Given the description of an element on the screen output the (x, y) to click on. 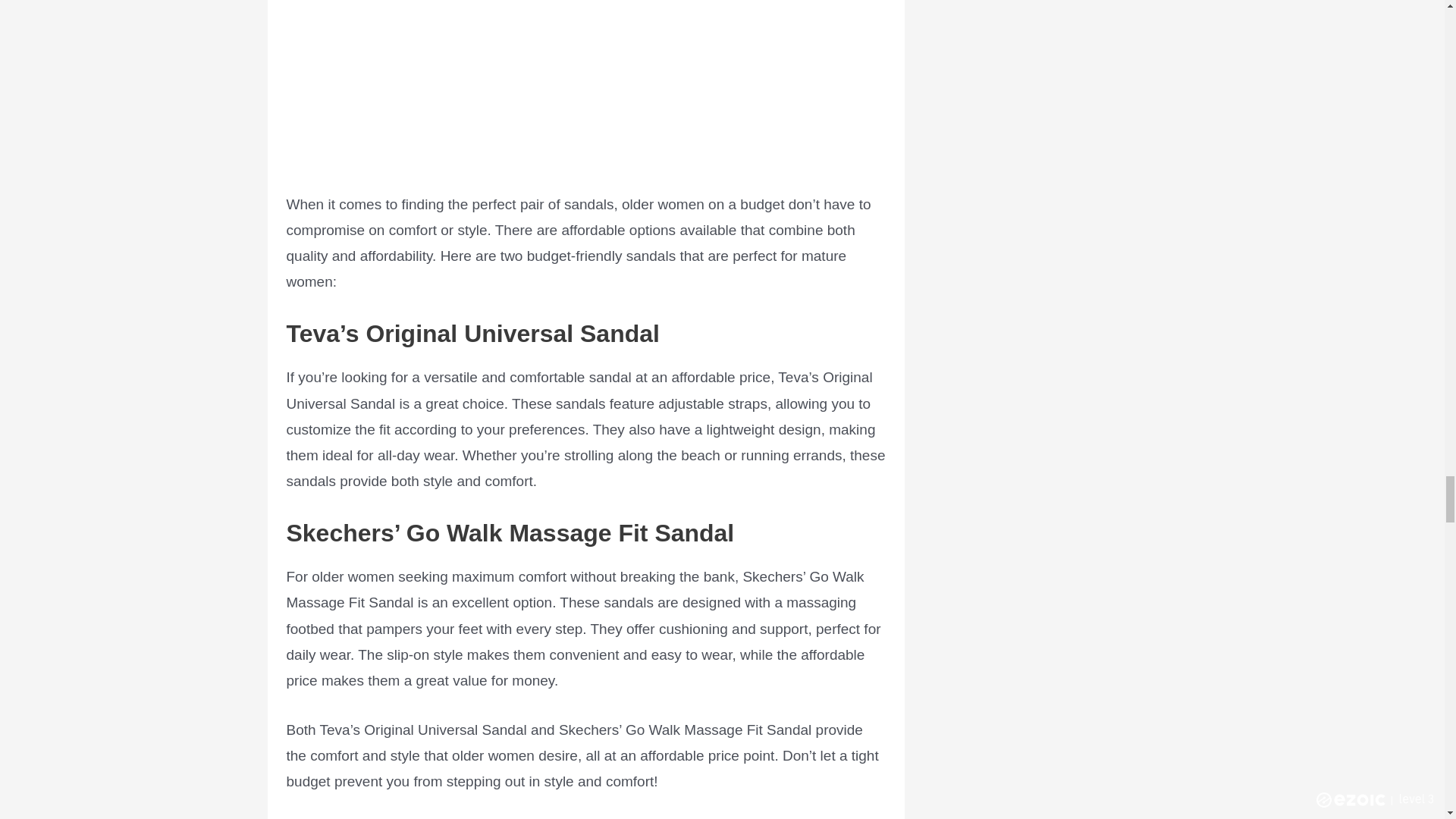
12 BEST SANDALS for Women Over 50 (585, 84)
